Given the description of an element on the screen output the (x, y) to click on. 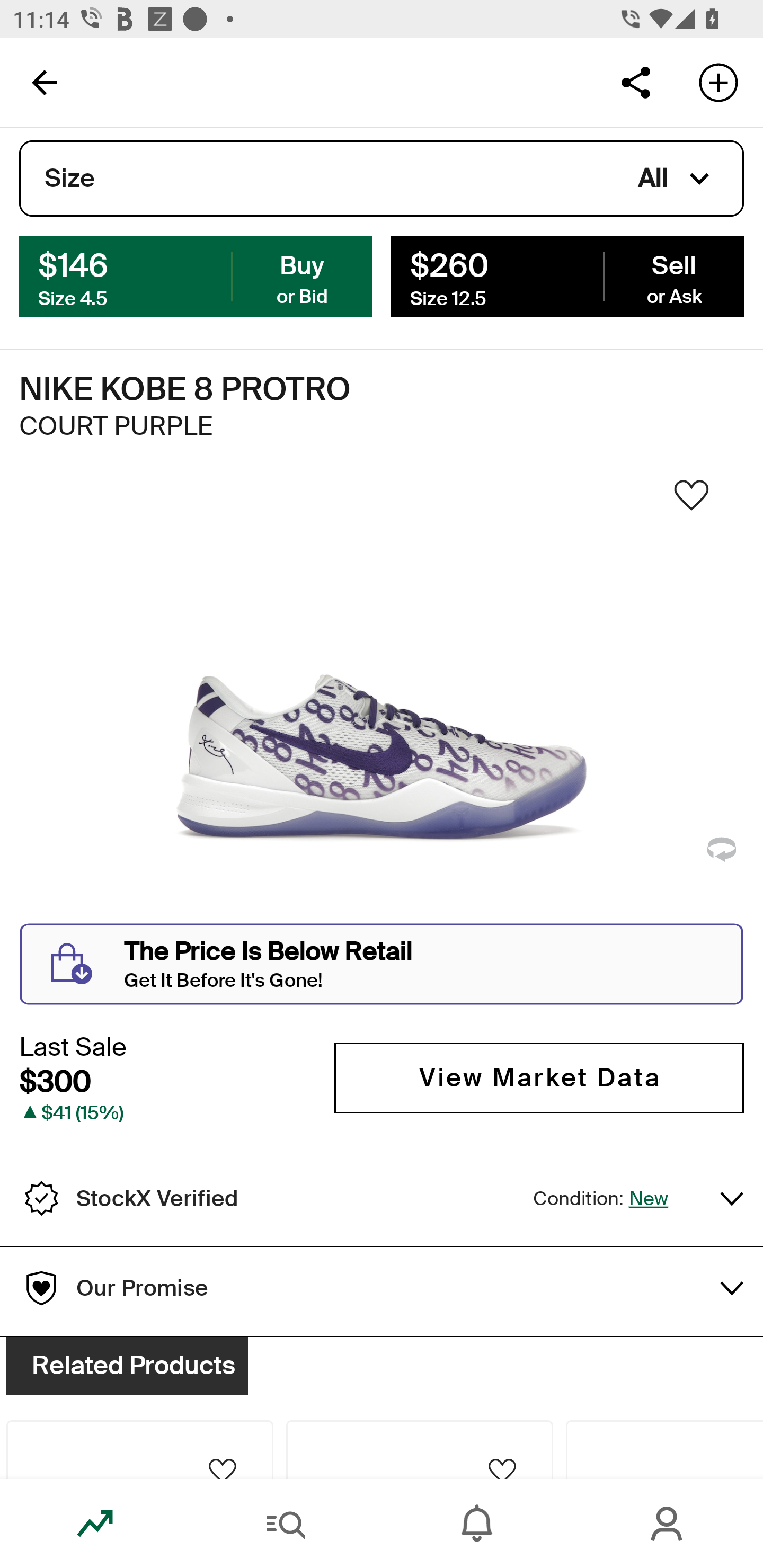
Share (635, 81)
Add (718, 81)
Size All (381, 178)
$146 Buy Size 4.5 or Bid (195, 275)
$260 Sell Size 12.5 or Ask (566, 275)
Sneaker Image (381, 699)
View Market Data (538, 1077)
Search (285, 1523)
Inbox (476, 1523)
Account (667, 1523)
